Given the description of an element on the screen output the (x, y) to click on. 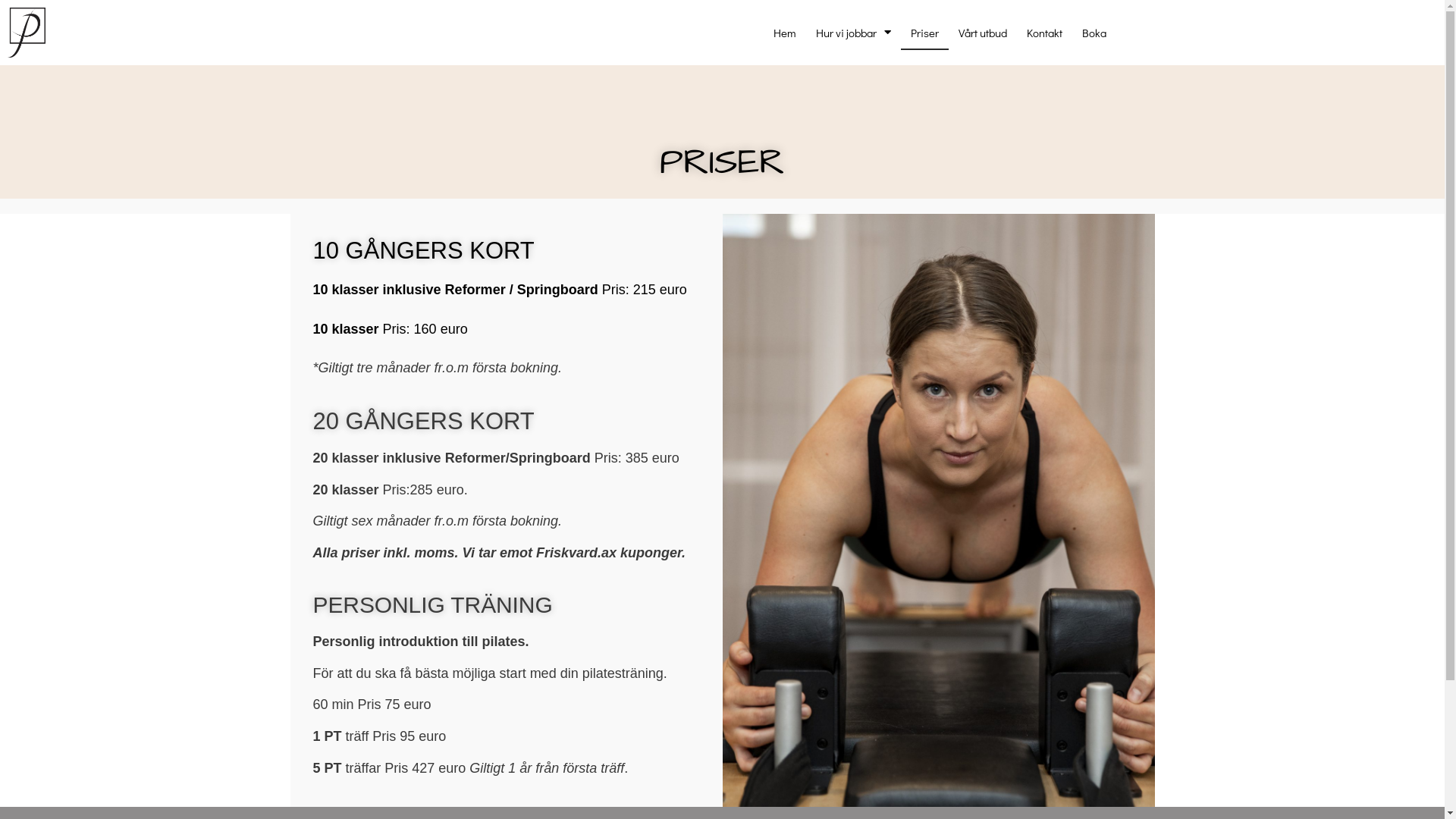
Hur vi jobbar Element type: text (853, 32)
Hem Element type: text (784, 32)
Kontakt Element type: text (1044, 32)
Boka Element type: text (1094, 32)
Priser Element type: text (924, 32)
